Given the description of an element on the screen output the (x, y) to click on. 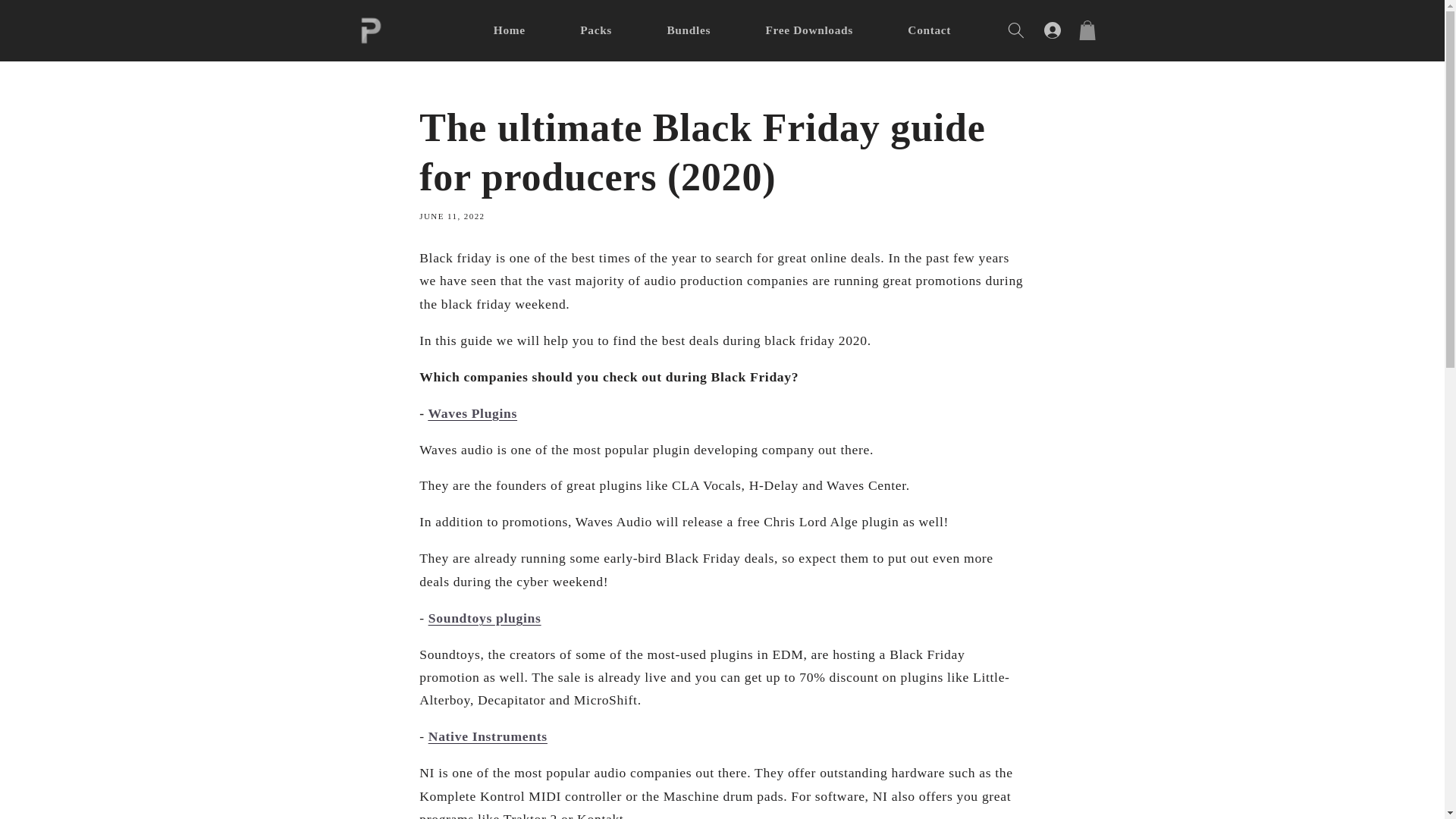
Home (509, 30)
Free Downloads (809, 30)
Native Instruments (487, 735)
Soundtoys plugins (484, 617)
Log in (1051, 30)
Contact (929, 30)
0 (1088, 30)
Waves Plugins (472, 412)
Packs (595, 30)
Bundles (688, 30)
Skip to content (49, 19)
